Given the description of an element on the screen output the (x, y) to click on. 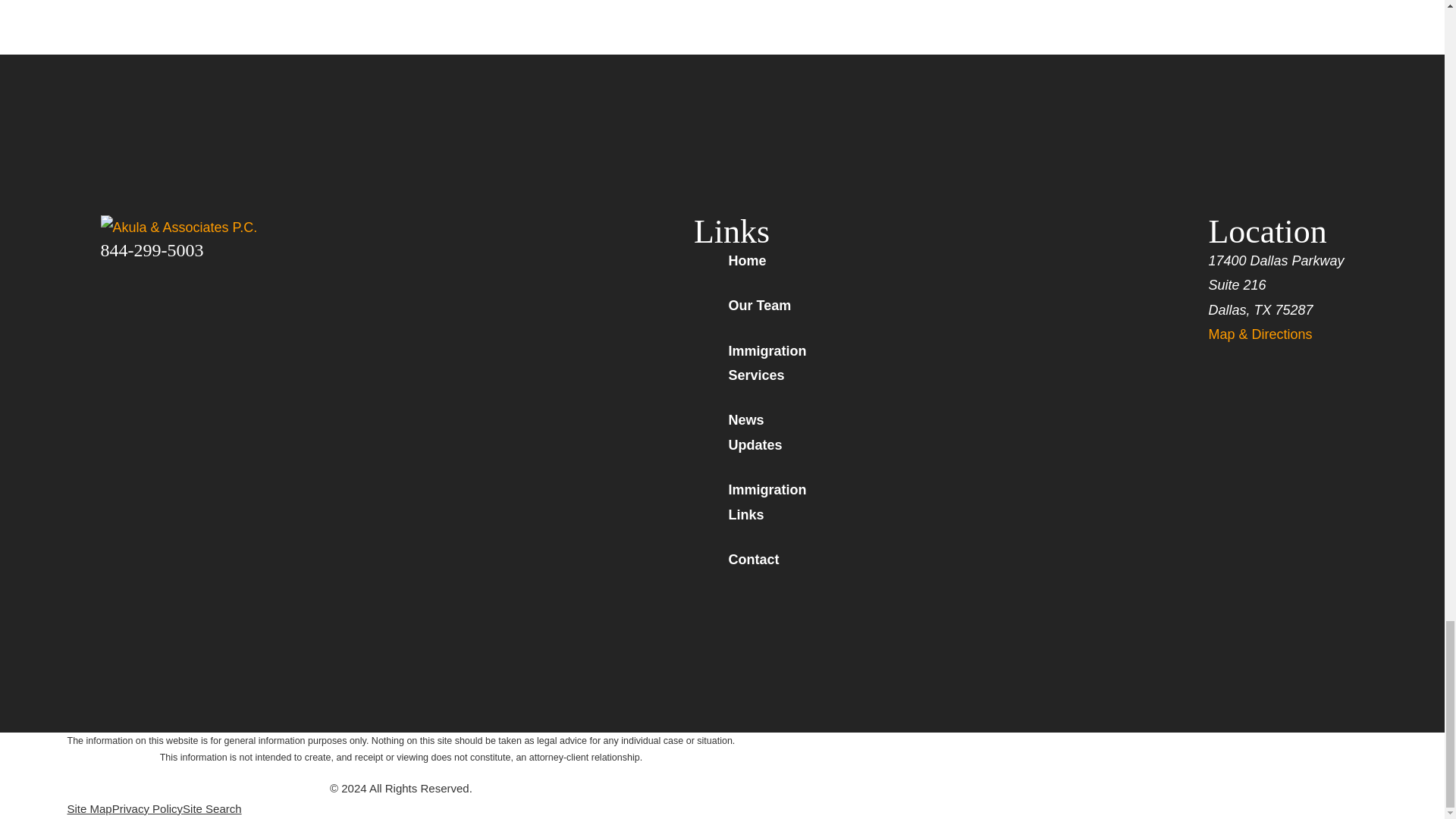
Home (208, 227)
Facebook (109, 273)
Twitter (148, 273)
LinkedIn (188, 273)
